Given the description of an element on the screen output the (x, y) to click on. 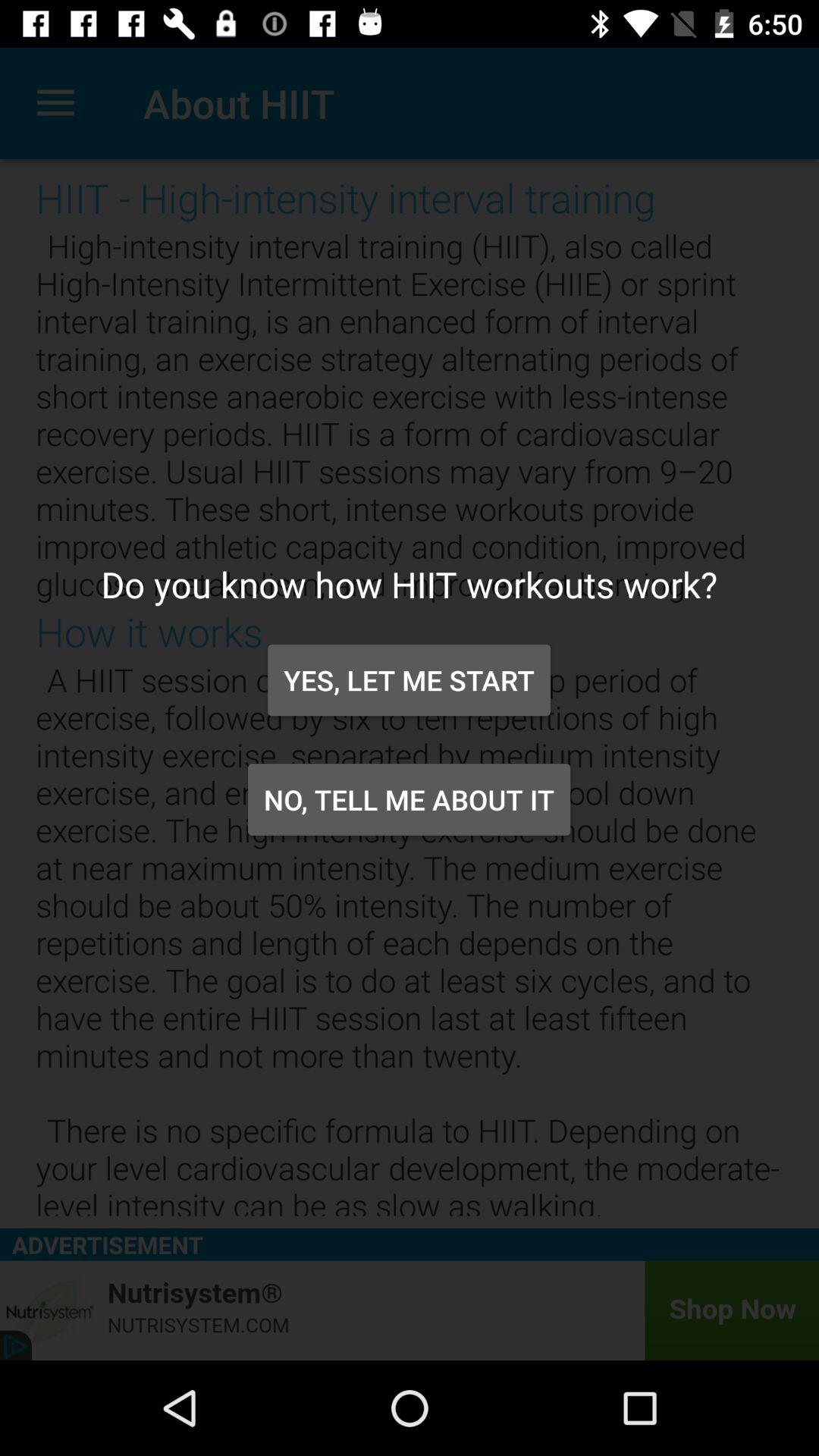
launch the no tell me icon (409, 799)
